Given the description of an element on the screen output the (x, y) to click on. 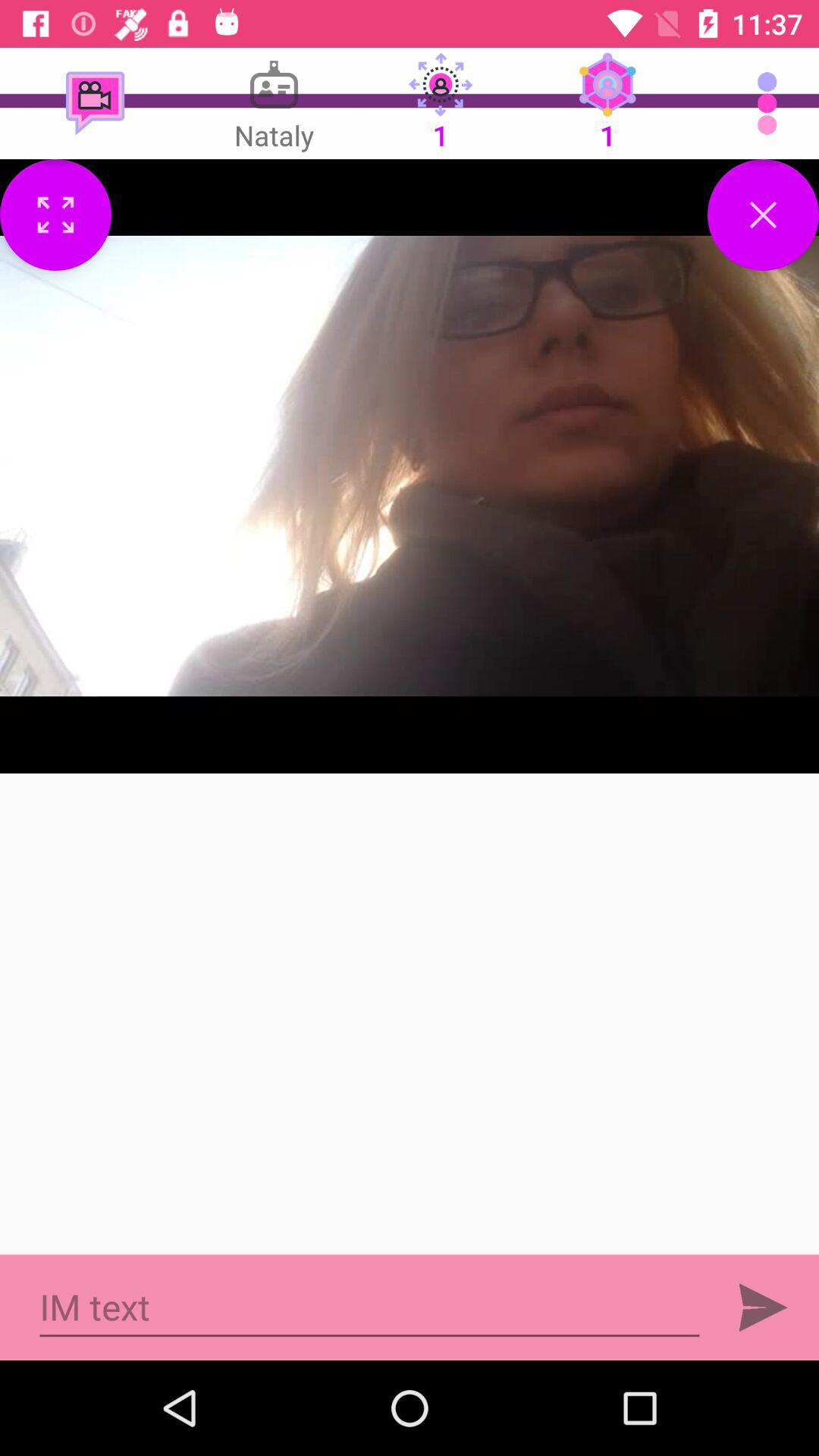
enter a im text (369, 1307)
